Given the description of an element on the screen output the (x, y) to click on. 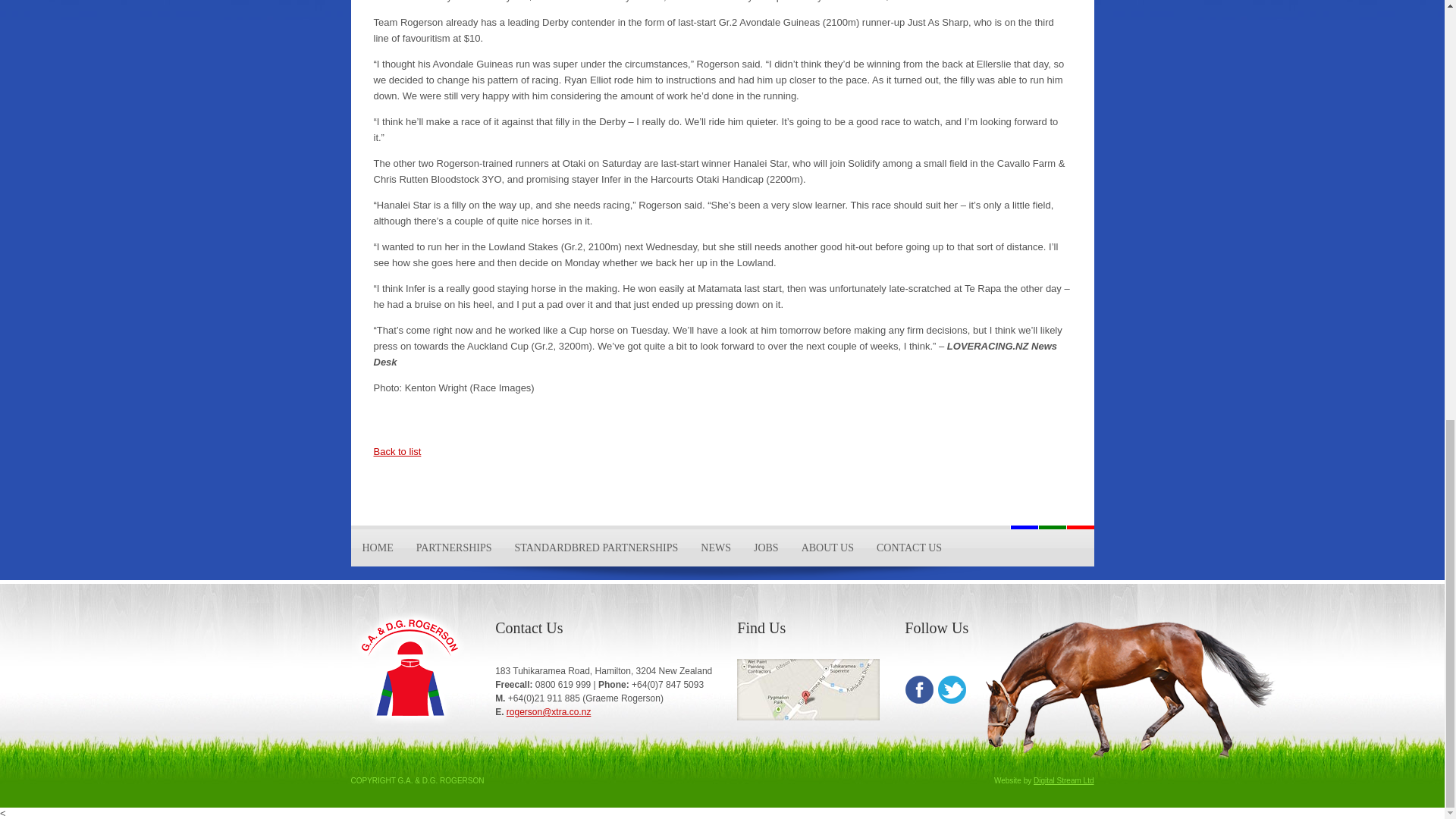
Digital Stream Ltd (1063, 780)
HOME (377, 547)
ABOUT US (827, 547)
PARTNERSHIPS (453, 547)
Digital Stream Ltd (1063, 780)
NEWS (715, 547)
CONTACT US (908, 547)
STANDARDBRED PARTNERSHIPS (596, 547)
JOBS (766, 547)
Back to list (396, 451)
